Given the description of an element on the screen output the (x, y) to click on. 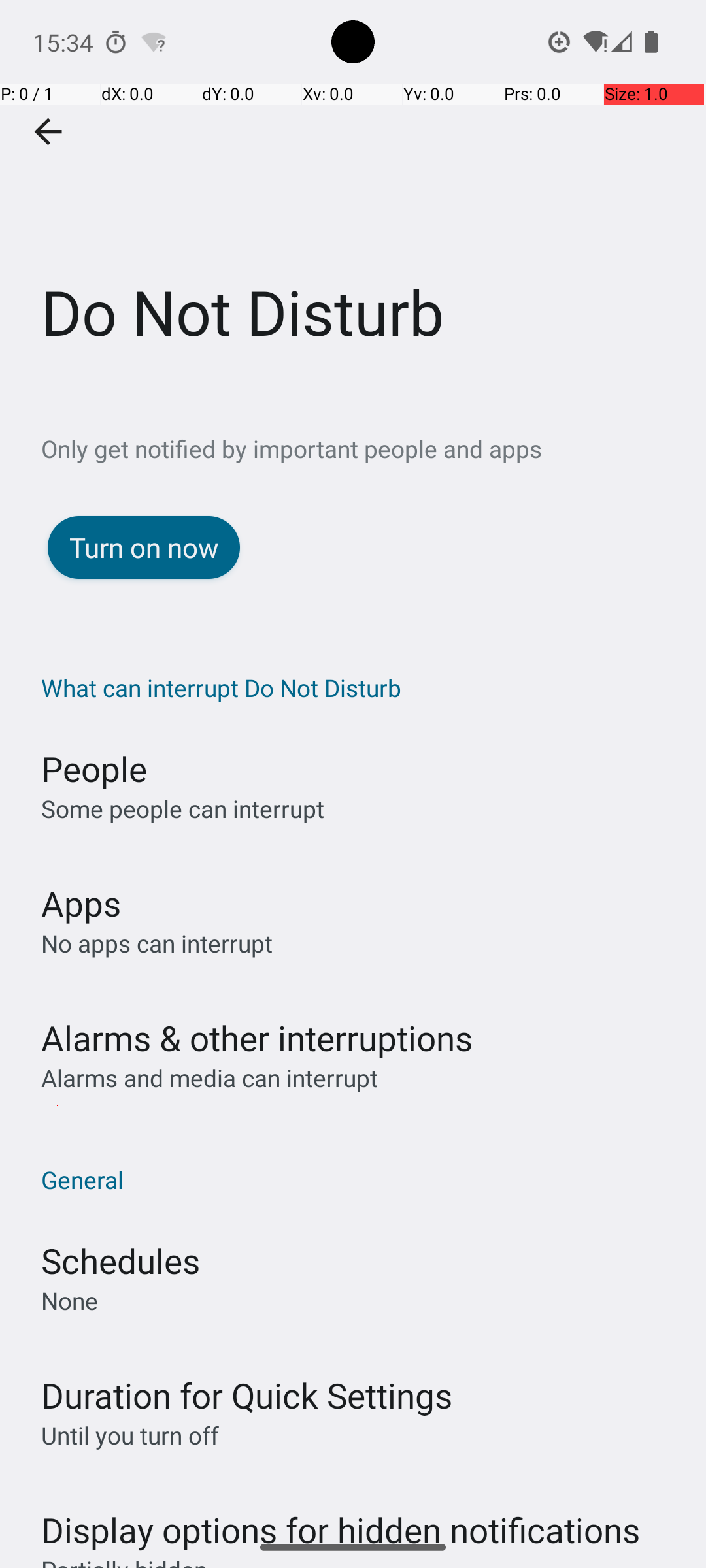
No apps can interrupt Element type: android.widget.TextView (156, 942)
